Given the description of an element on the screen output the (x, y) to click on. 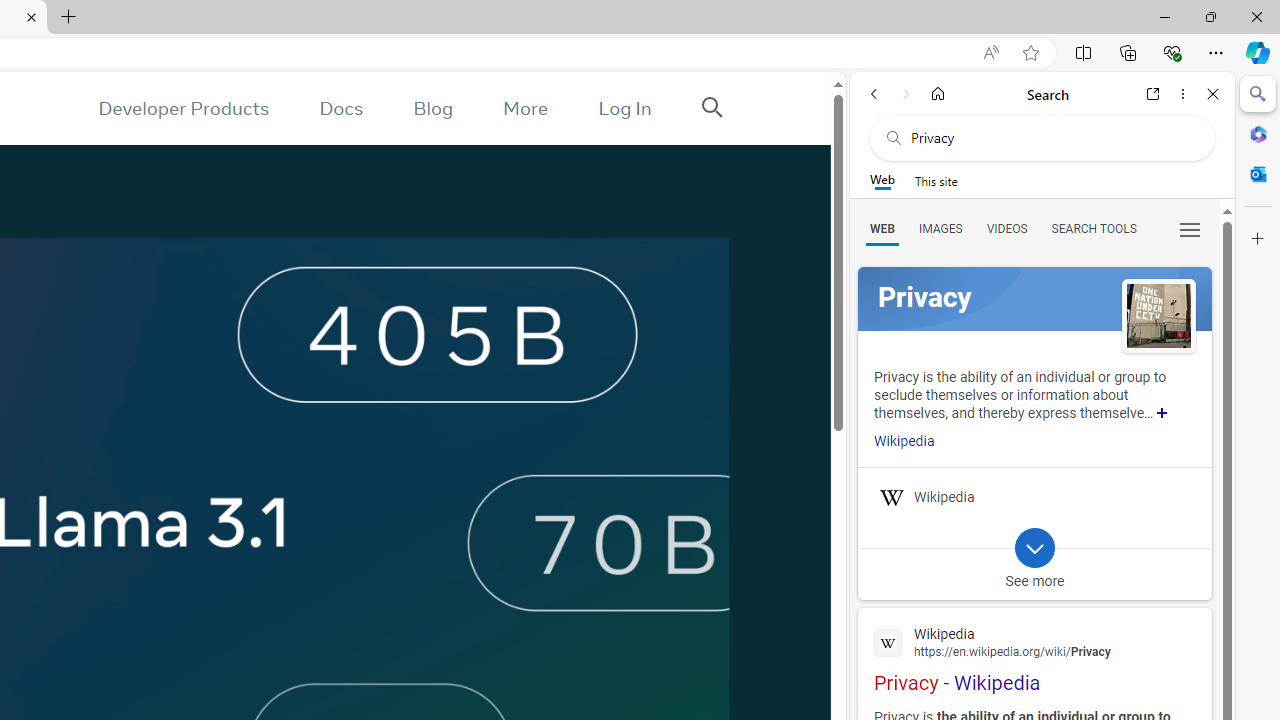
Log In (625, 108)
Blog (432, 108)
Global web icon (888, 642)
Search the web (1051, 137)
Open link in new tab (1153, 93)
IMAGES (939, 228)
See more images of Privacy (1158, 315)
Developer Products (183, 108)
Class: b_exp_chevron_svg b_expmob_chev (1034, 547)
